Given the description of an element on the screen output the (x, y) to click on. 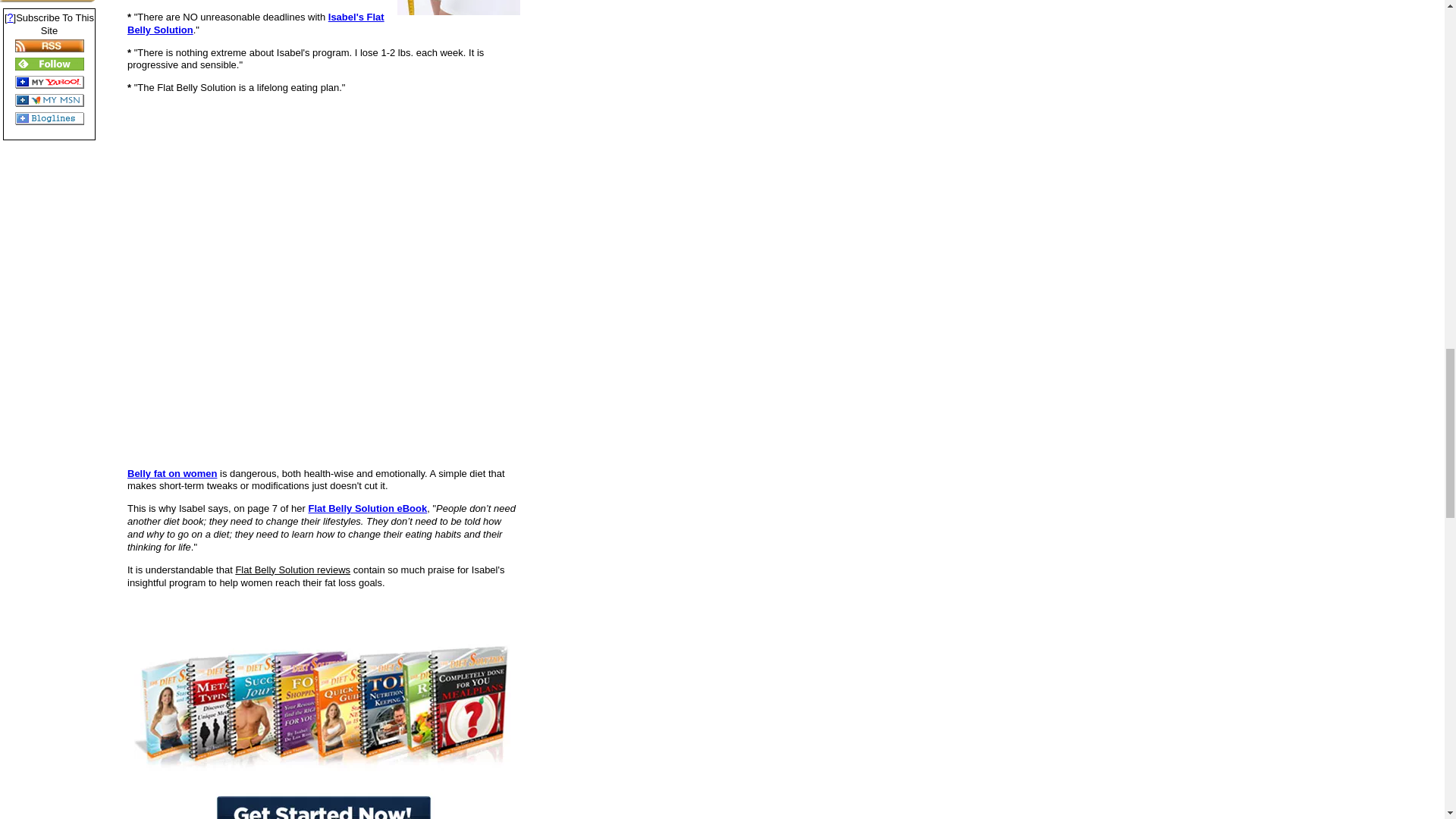
flat belly solution reviews have exploded sales (323, 800)
flat belly solution reviews are positive and uplifting (458, 7)
flat belly solution reviews are explosively popular (323, 704)
